Given the description of an element on the screen output the (x, y) to click on. 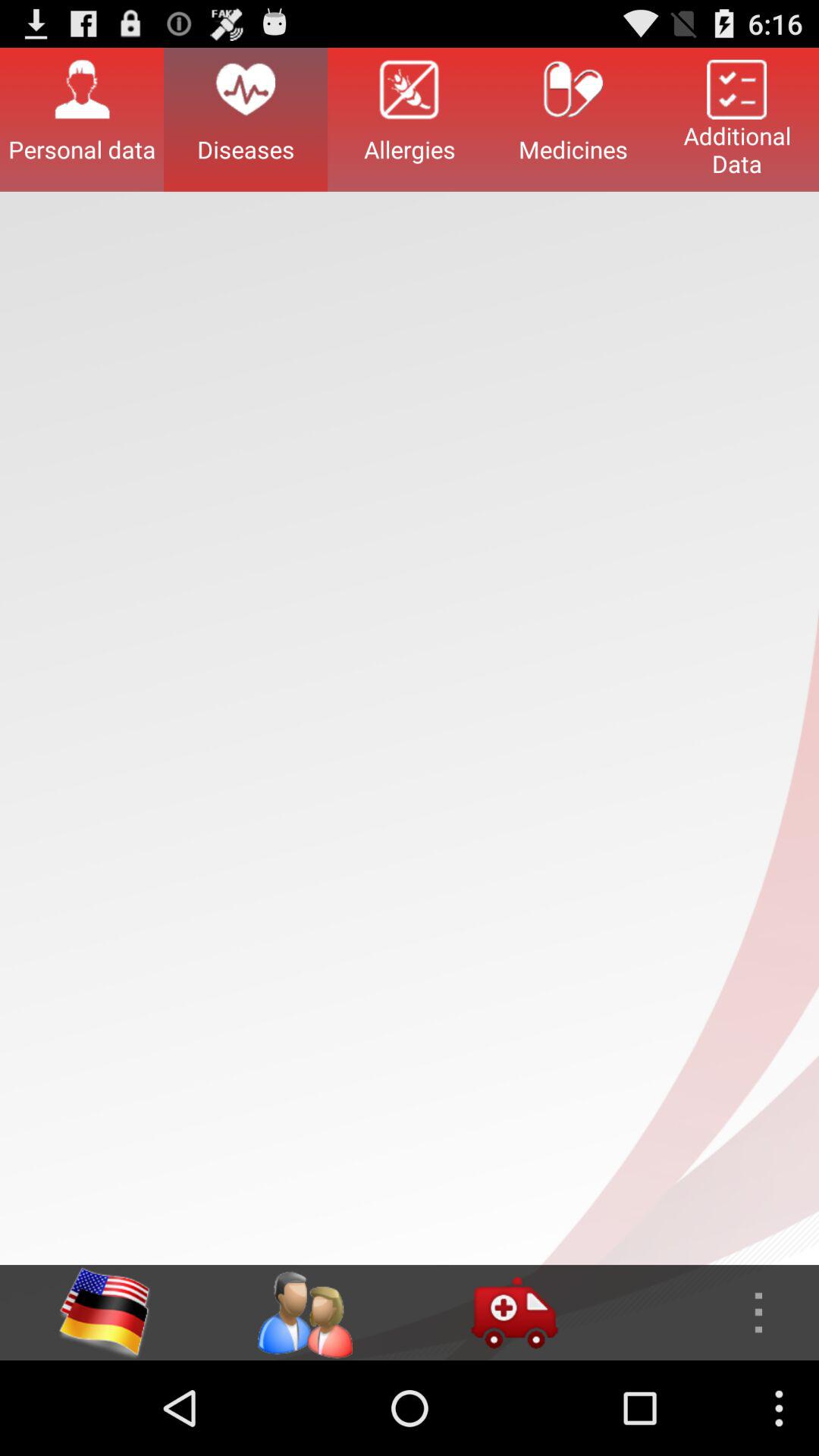
open menu (713, 1312)
